Given the description of an element on the screen output the (x, y) to click on. 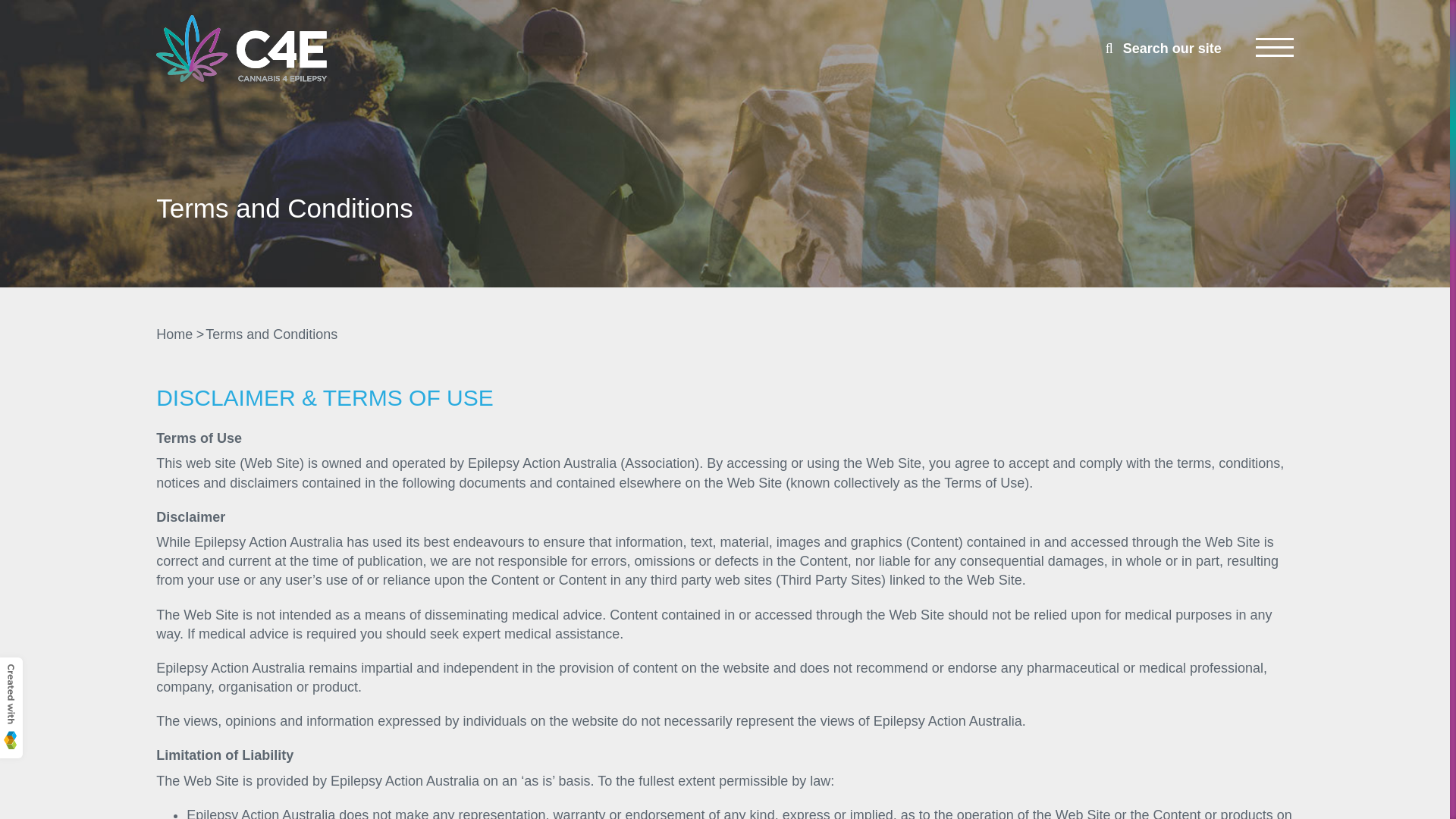
Terms and Conditions (271, 334)
Home (173, 334)
Search (21, 7)
